Given the description of an element on the screen output the (x, y) to click on. 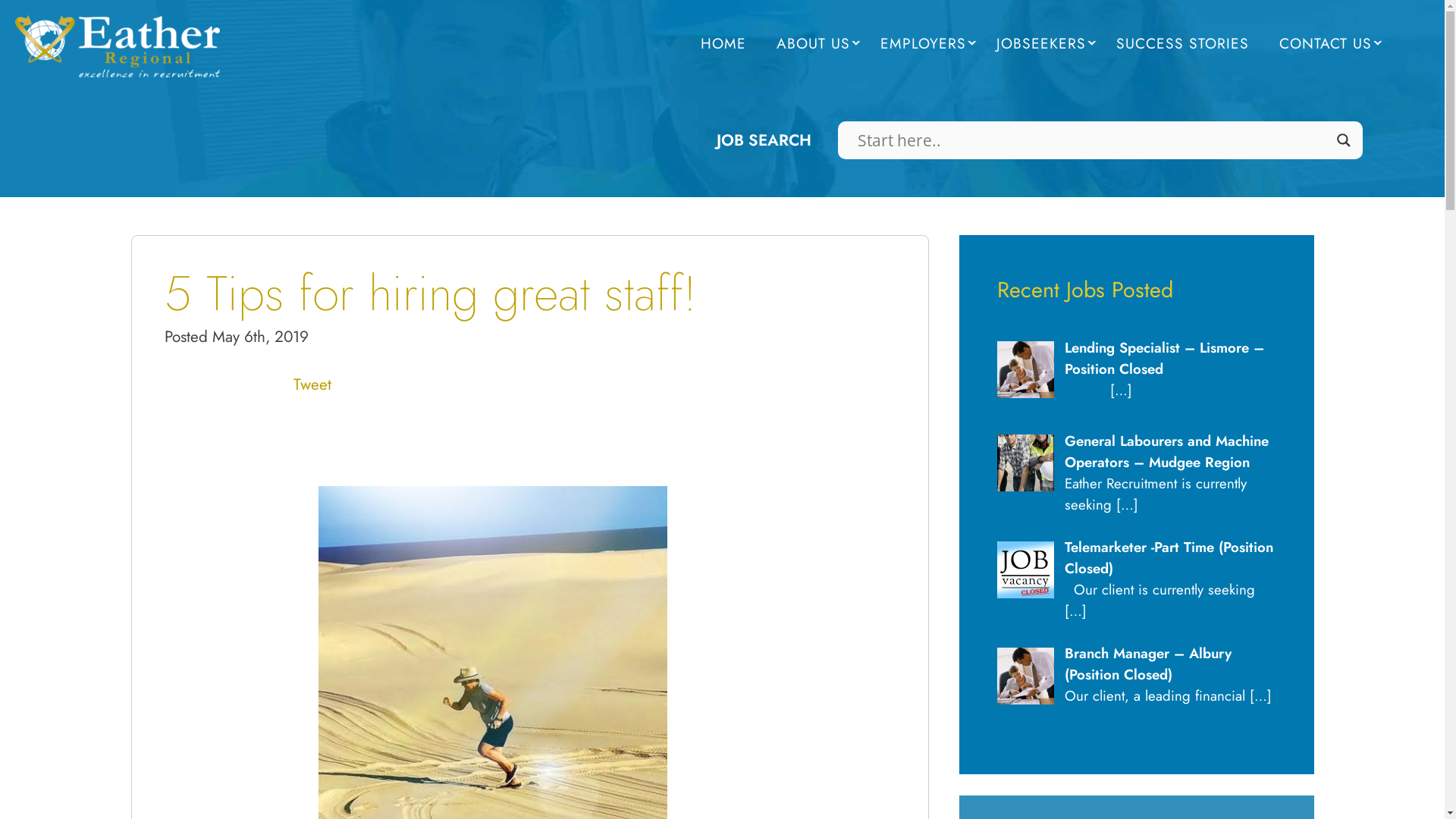
Telemarketer -Part Time (Position Closed) Element type: text (1168, 557)
EMPLOYERS Element type: text (923, 43)
SUCCESS STORIES Element type: text (1182, 43)
JOBSEEKERS Element type: text (1040, 43)
HOME Element type: text (723, 43)
ABOUT US Element type: text (813, 43)
CONTACT US Element type: text (1325, 43)
Tweet Element type: text (312, 384)
